Given the description of an element on the screen output the (x, y) to click on. 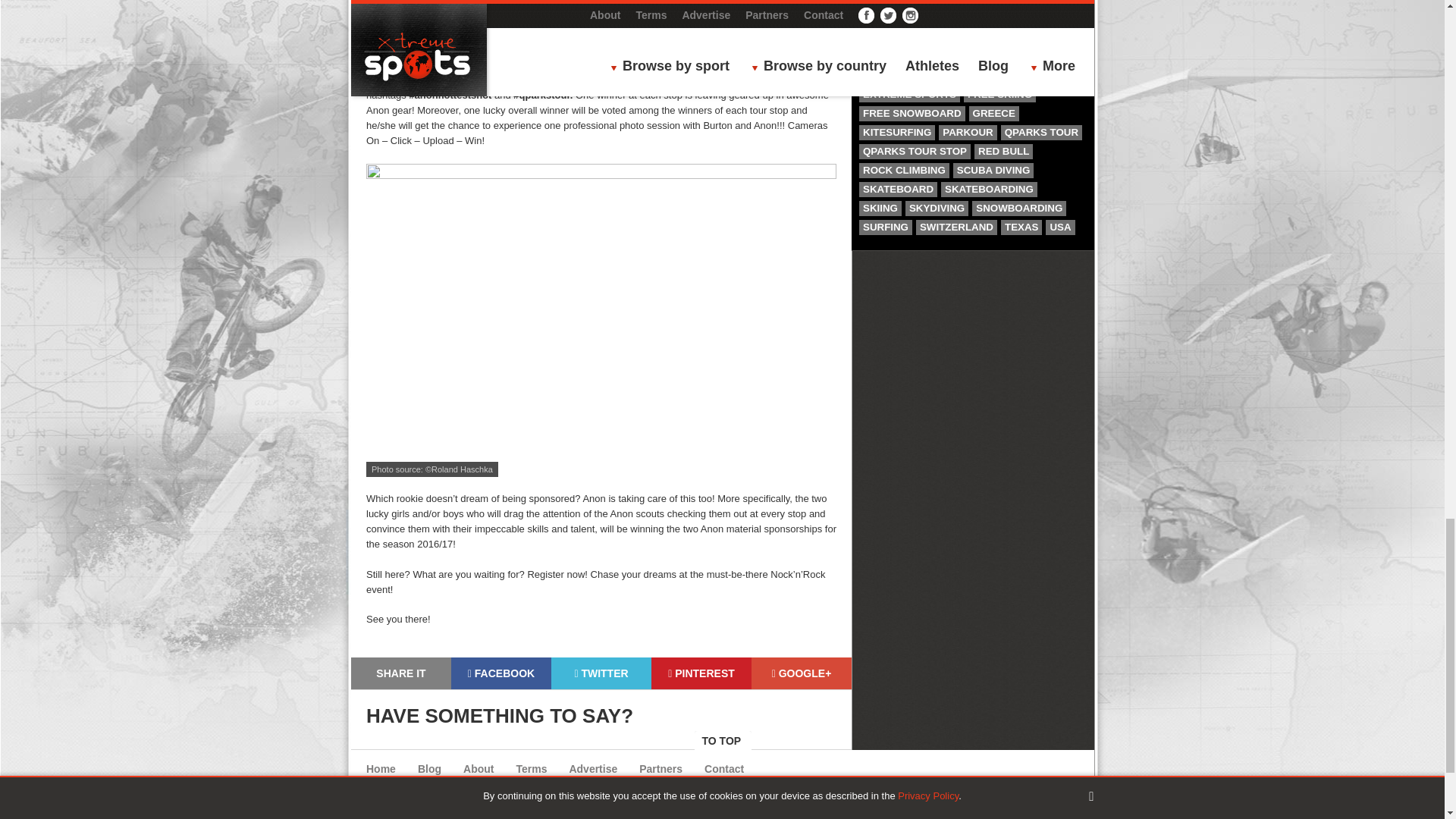
PINTEREST (700, 672)
FACEBOOK (501, 672)
TWITTER (600, 672)
